Given the description of an element on the screen output the (x, y) to click on. 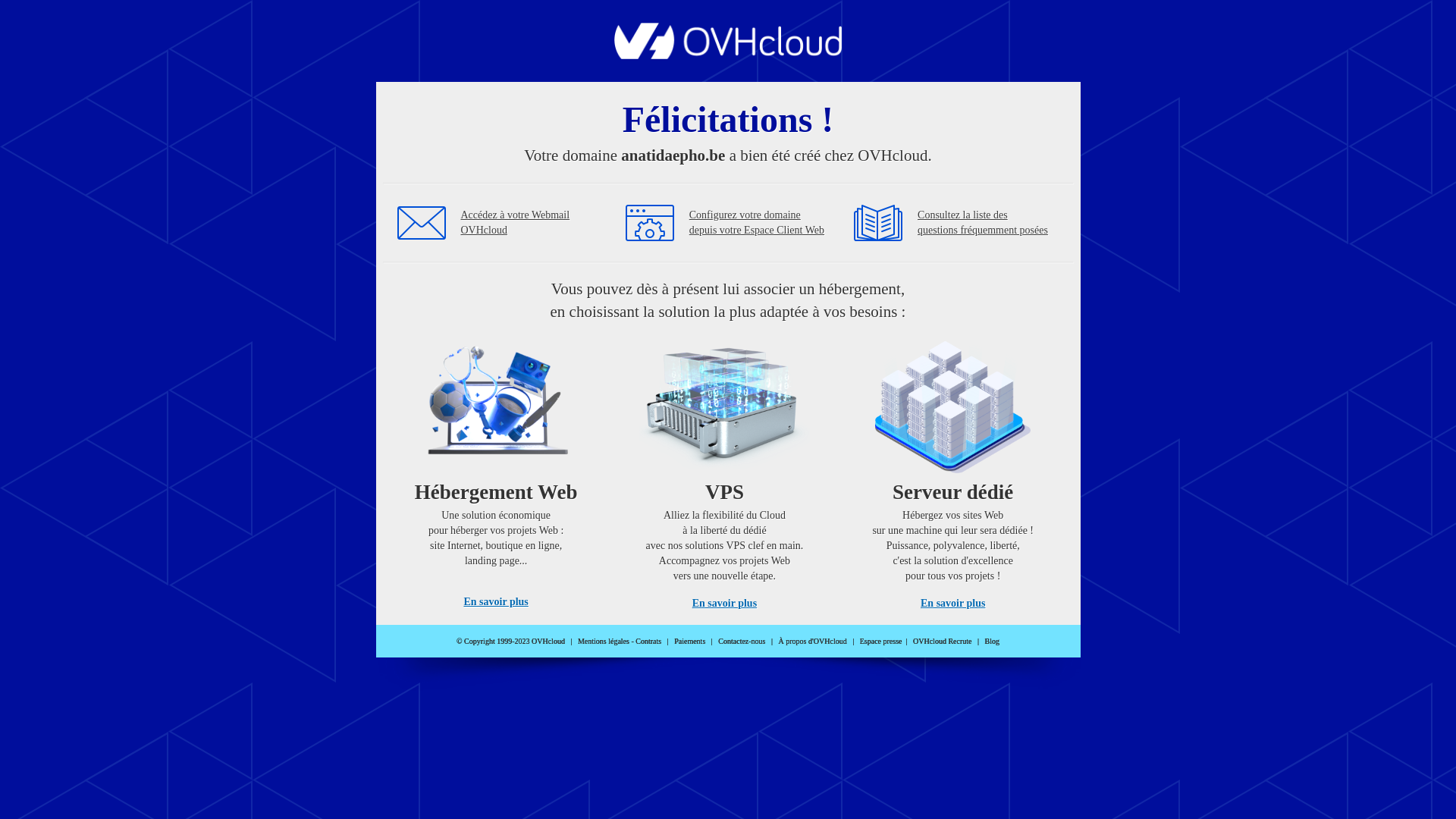
En savoir plus Element type: text (724, 602)
En savoir plus Element type: text (952, 602)
Espace presse Element type: text (880, 641)
Paiements Element type: text (689, 641)
VPS Element type: hover (724, 469)
Blog Element type: text (992, 641)
Configurez votre domaine
depuis votre Espace Client Web Element type: text (756, 222)
OVHcloud Element type: hover (727, 54)
En savoir plus Element type: text (495, 601)
OVHcloud Recrute Element type: text (942, 641)
Contactez-nous Element type: text (741, 641)
